Given the description of an element on the screen output the (x, y) to click on. 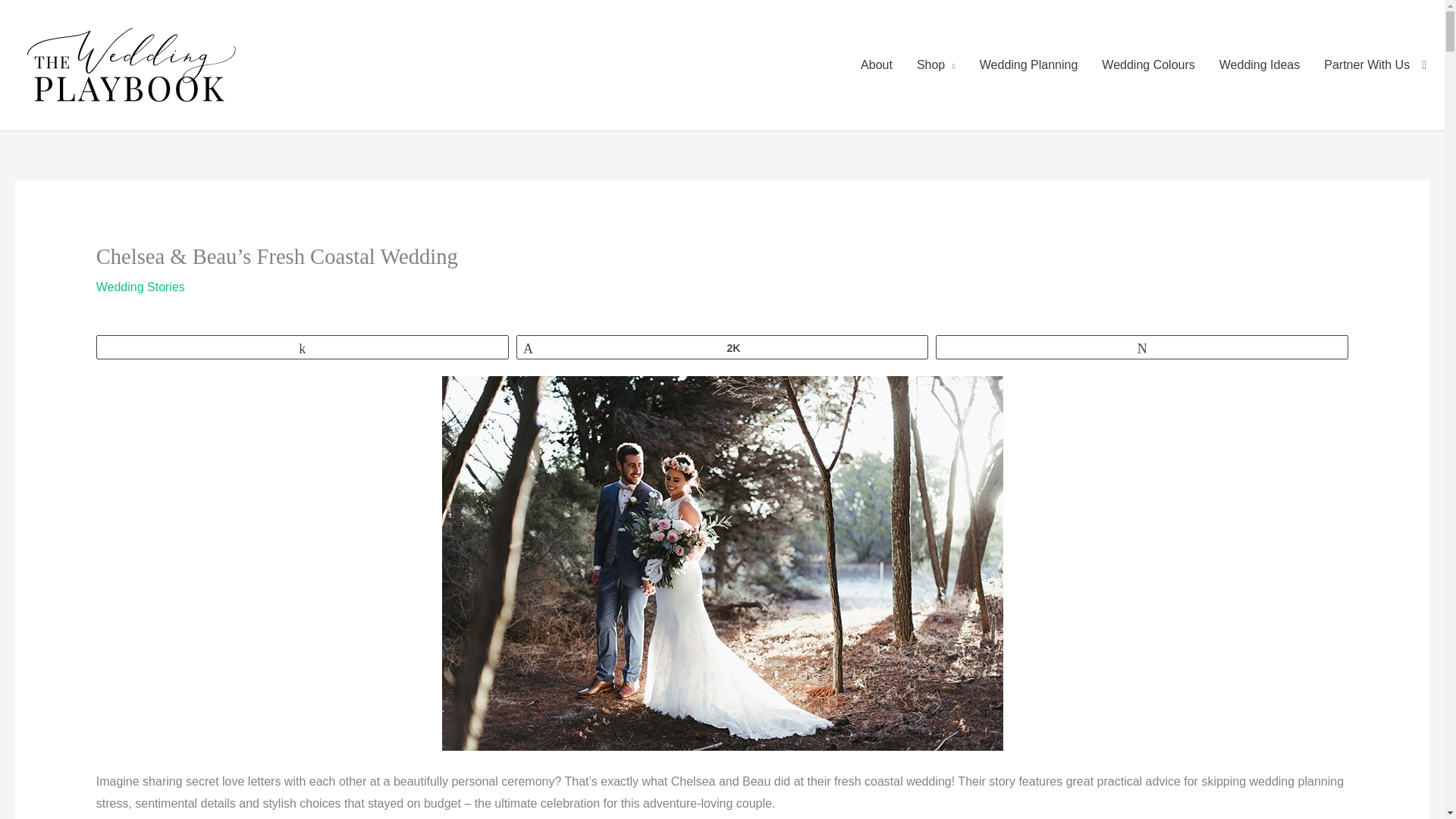
About (876, 64)
2K (722, 346)
Partner With Us (1366, 64)
Wedding Ideas (1259, 64)
Shop (936, 64)
Wedding Colours (1148, 64)
Wedding Planning (1029, 64)
Wedding Stories (140, 286)
